Given the description of an element on the screen output the (x, y) to click on. 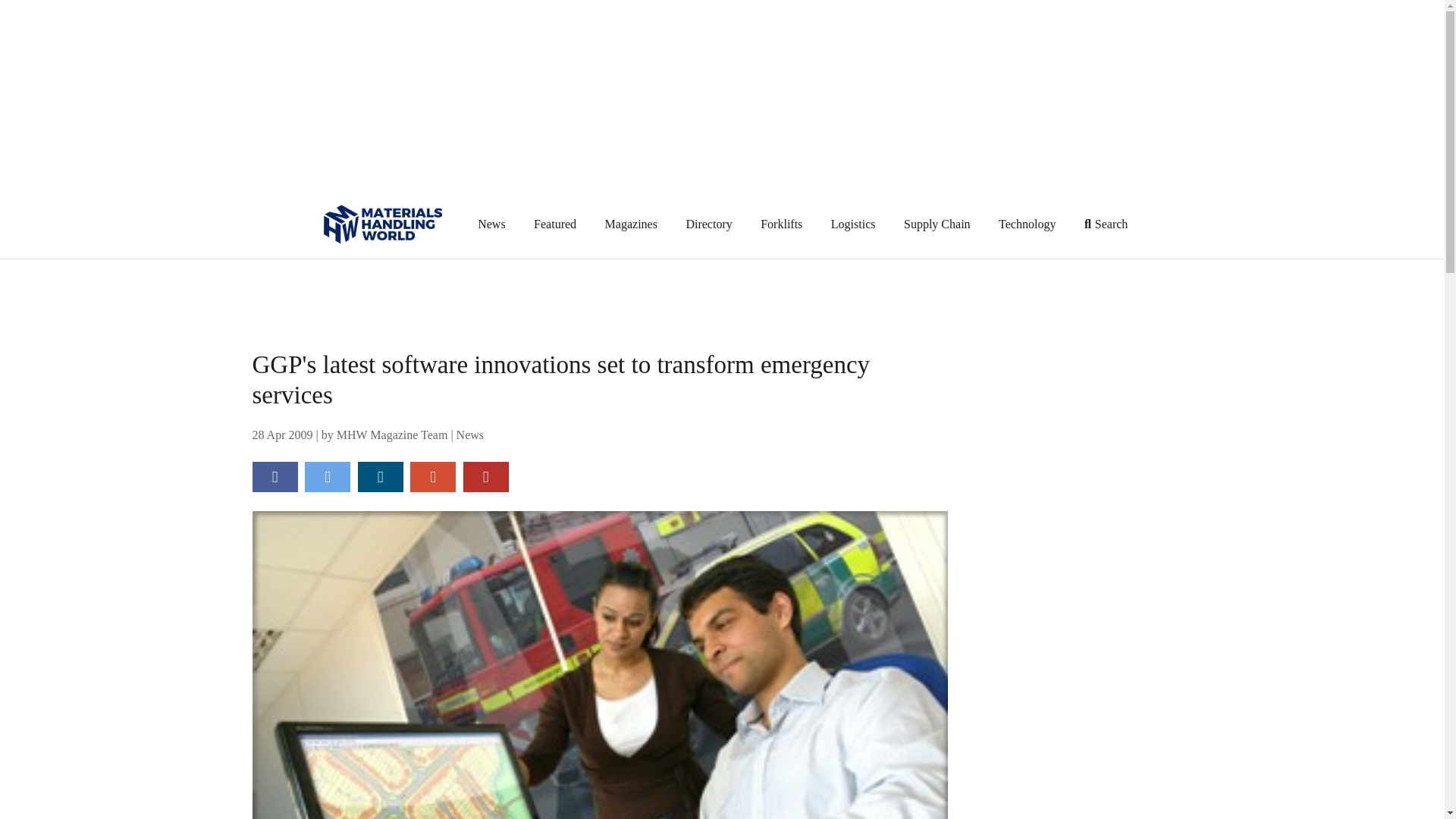
3rd party ad content (1088, 789)
Logistics (853, 223)
3rd party ad content (1088, 444)
News (470, 434)
Share on Facebook (274, 476)
Share by Email (432, 476)
Forklifts (781, 223)
Magazines (631, 223)
3rd party ad content (722, 293)
Directory (708, 223)
Supply Chain (937, 223)
Featured (555, 223)
Search (1105, 223)
3rd party ad content (1088, 649)
